Given the description of an element on the screen output the (x, y) to click on. 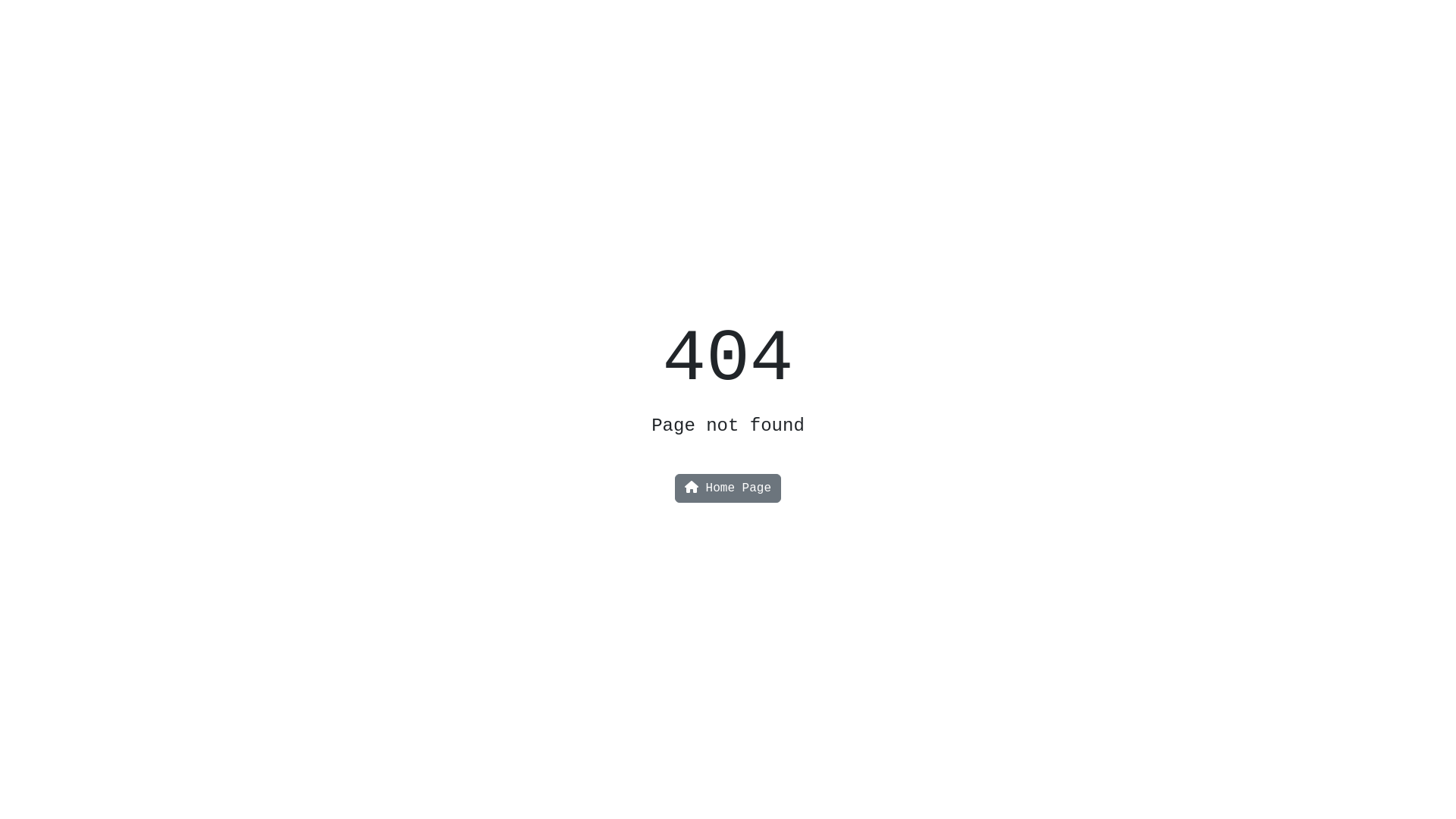
Home Page Element type: text (727, 487)
